Given the description of an element on the screen output the (x, y) to click on. 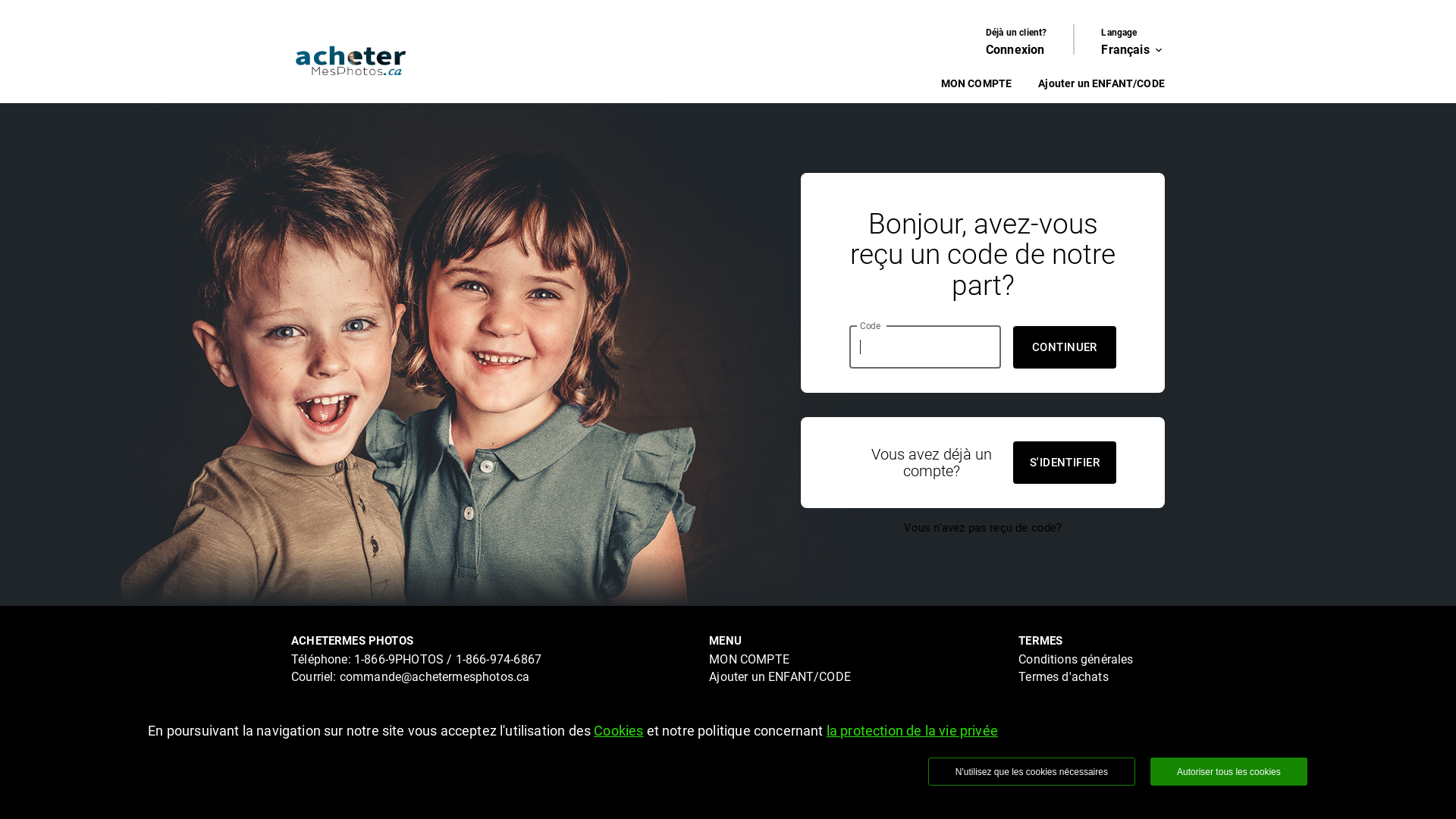
description cookies Element type: text (1070, 710)
Ajouter un ENFANT/CODE Element type: text (1101, 83)
Autoriser tous les cookies Element type: text (1228, 772)
S'IDENTIFIER Element type: text (1064, 462)
Ajouter un ENFANT/CODE Element type: text (779, 676)
Termes d'achats Element type: text (1063, 676)
commande@achetermesphotos.ca Element type: text (434, 676)
CONTINUER Element type: text (1064, 347)
Connexion Element type: text (1014, 49)
MON COMPTE Element type: text (975, 83)
Cookies Element type: text (618, 730)
MON COMPTE Element type: text (749, 659)
